Given the description of an element on the screen output the (x, y) to click on. 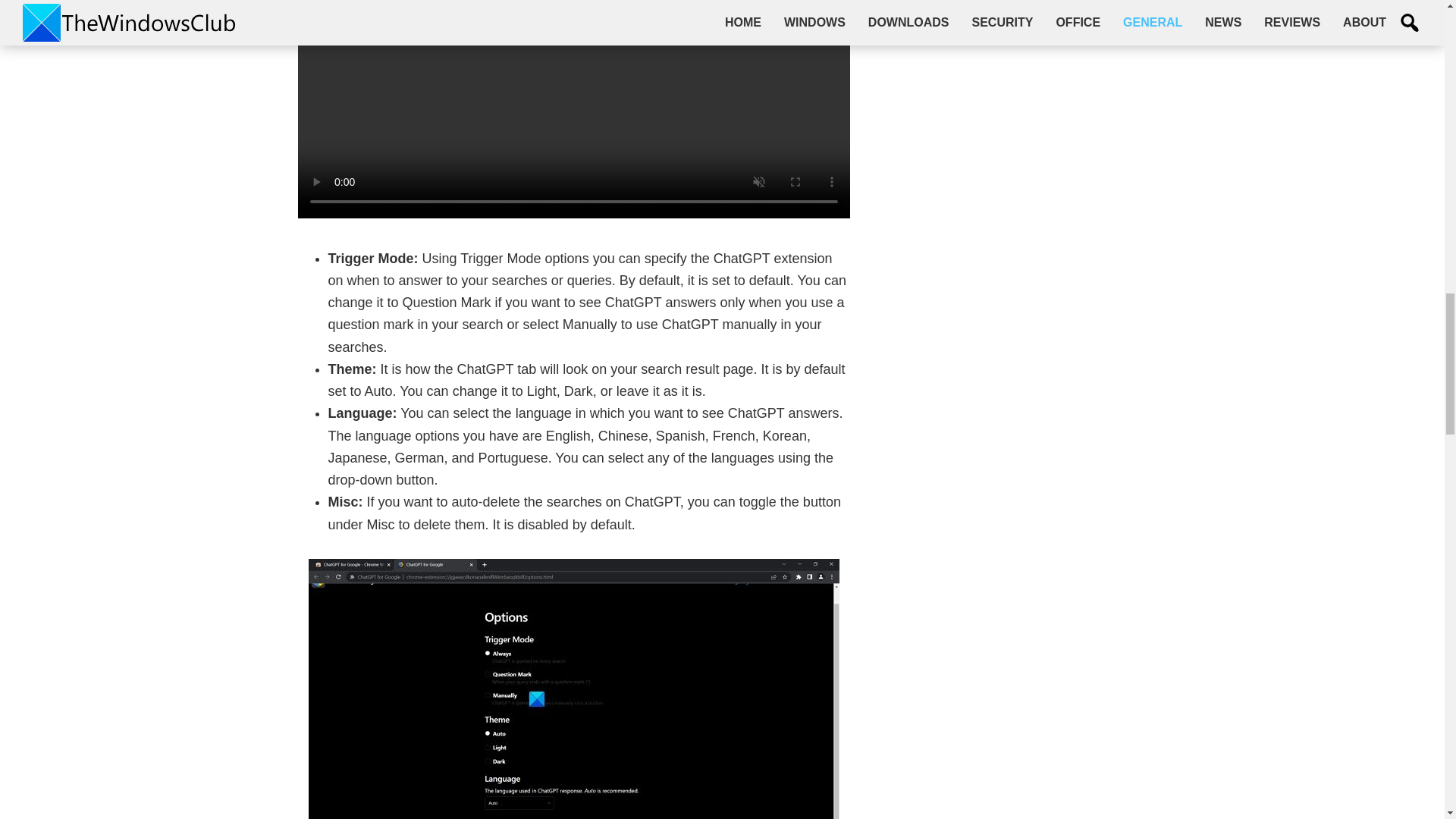
Play Video (573, 61)
Play Video (573, 61)
